Given the description of an element on the screen output the (x, y) to click on. 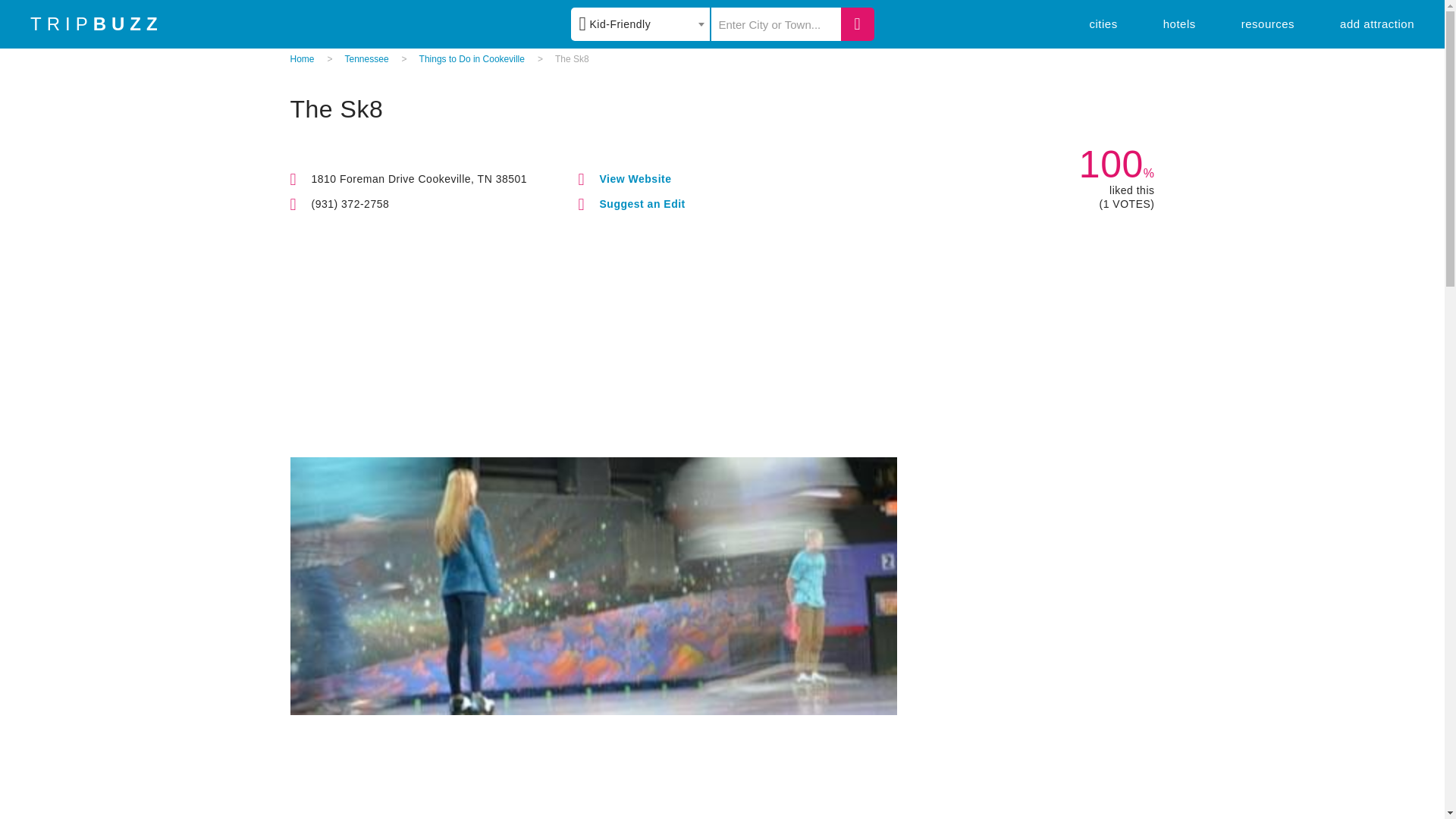
View Website (634, 178)
cities (1103, 23)
Advertisement (721, 784)
Suggest an Edit (641, 203)
TRIPBUZZ (96, 24)
Things to Do in Cookeville (471, 59)
Login (832, 130)
resources (1267, 23)
hotels (1179, 23)
